Given the description of an element on the screen output the (x, y) to click on. 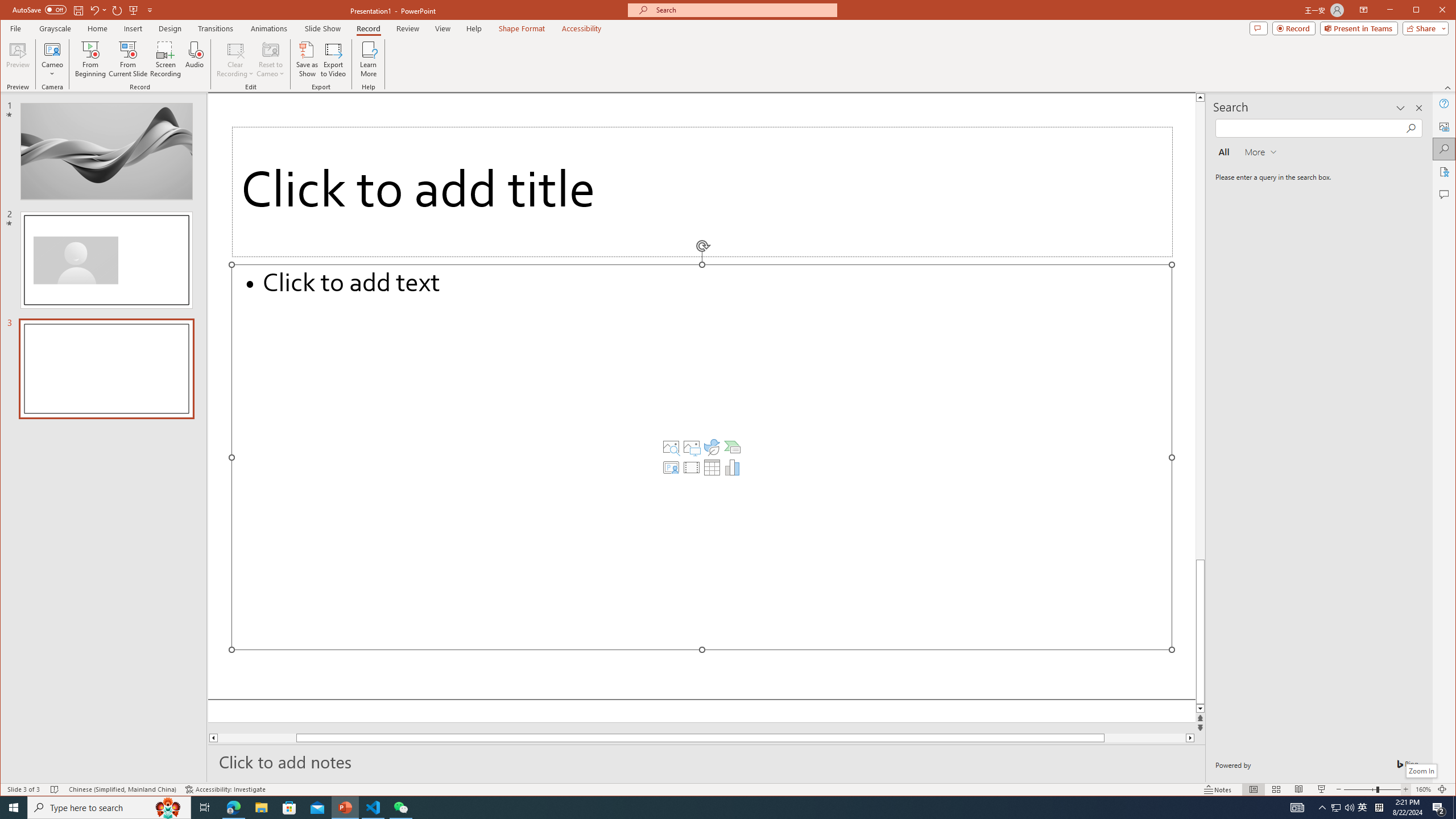
Clear Recording (234, 59)
Transitions (215, 28)
Task Pane Options (1400, 107)
Zoom 160% (1422, 789)
From Beginning... (90, 59)
Learn More (368, 59)
Insert Chart (1362, 807)
Cameo (732, 467)
Start (52, 59)
Content Placeholder (13, 807)
Comments (701, 457)
